Given the description of an element on the screen output the (x, y) to click on. 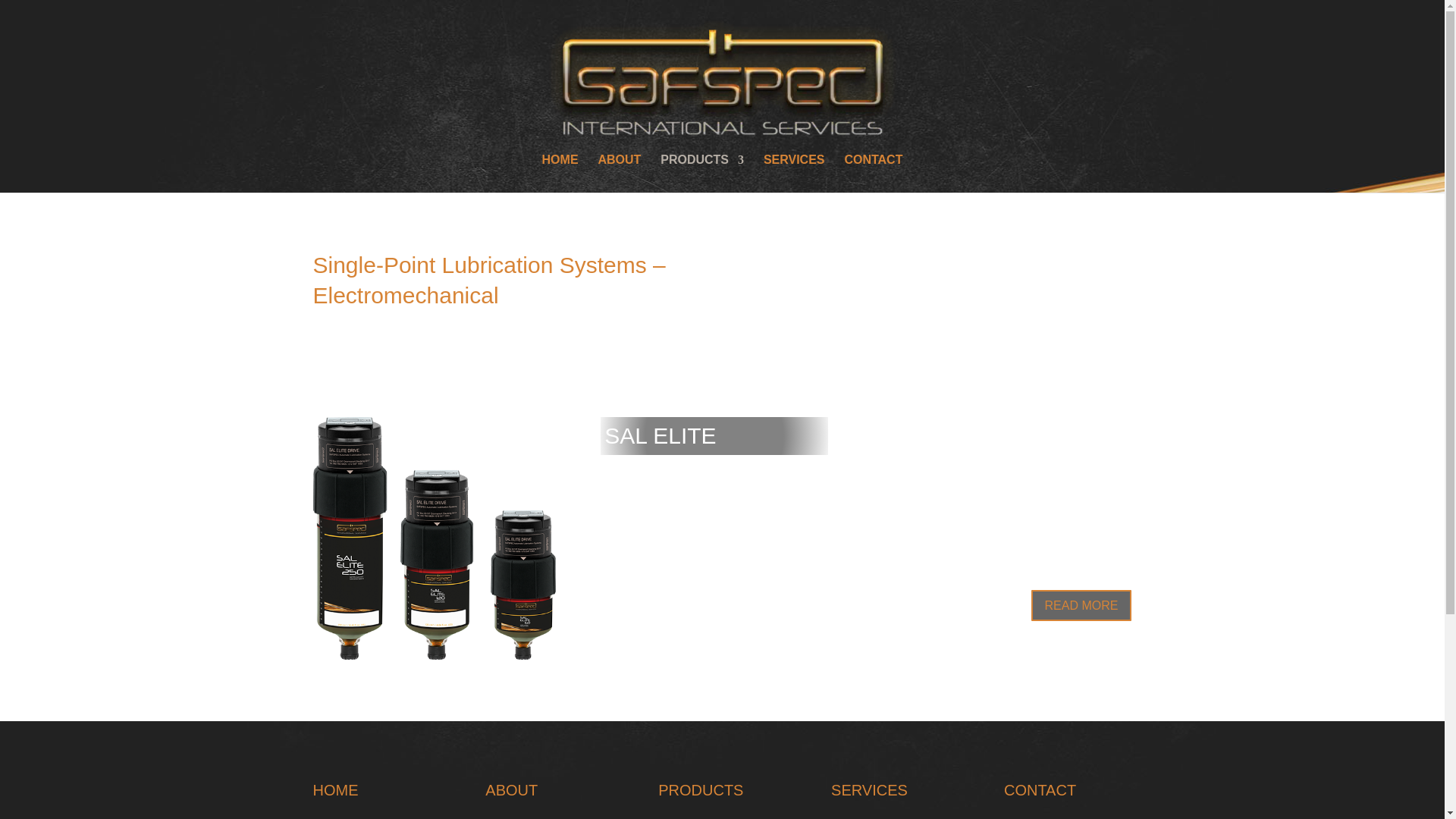
READ MORE (1081, 604)
ABOUT (618, 173)
ABOUT (510, 790)
CONTACT (1039, 790)
HOME (335, 790)
SERVICES (793, 173)
PRODUCTS (700, 790)
HOME (559, 173)
PRODUCTS (702, 173)
SERVICES (869, 790)
CONTACT (873, 173)
